Given the description of an element on the screen output the (x, y) to click on. 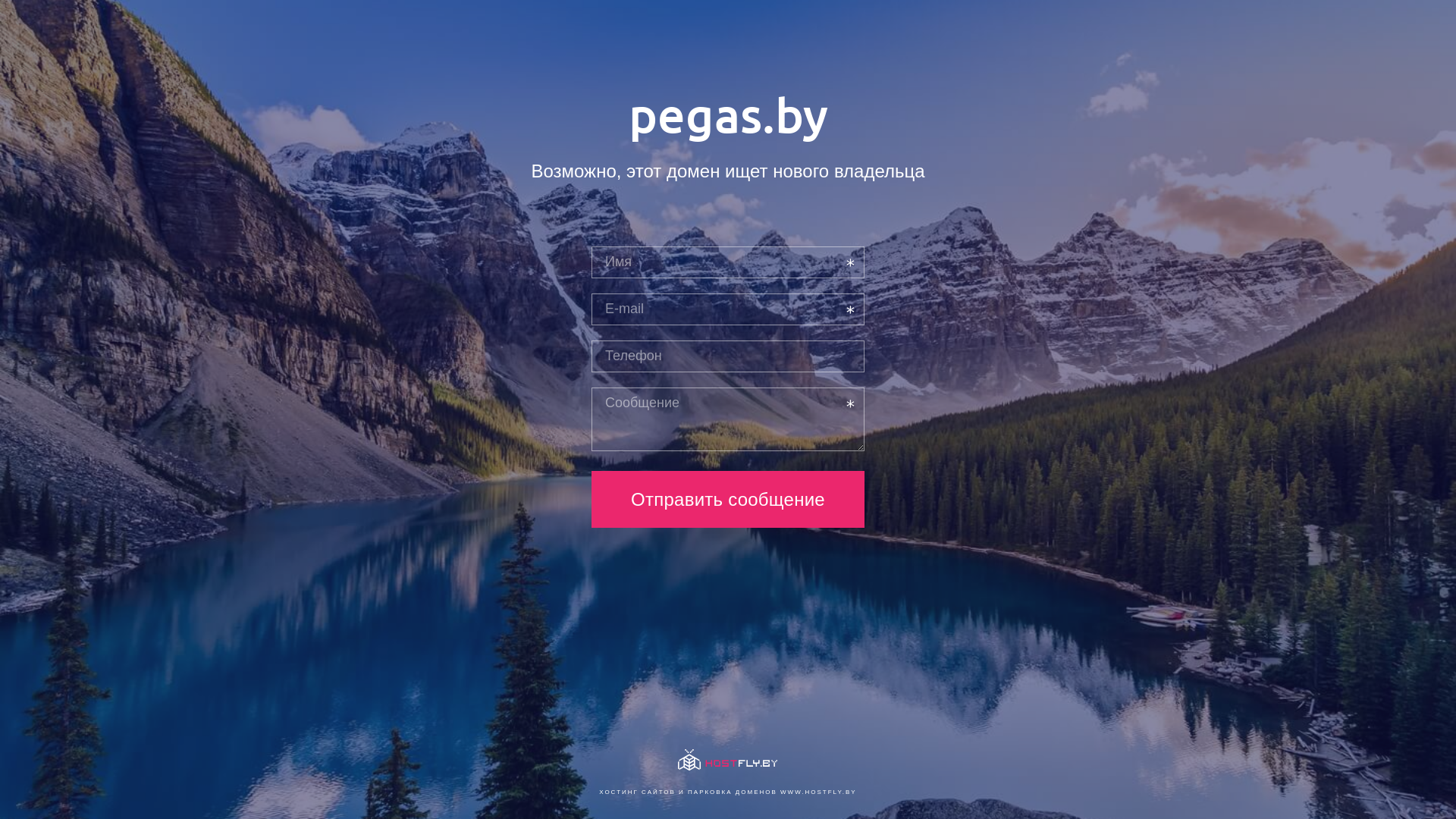
WWW.HOSTFLY.BY Element type: text (818, 791)
